Given the description of an element on the screen output the (x, y) to click on. 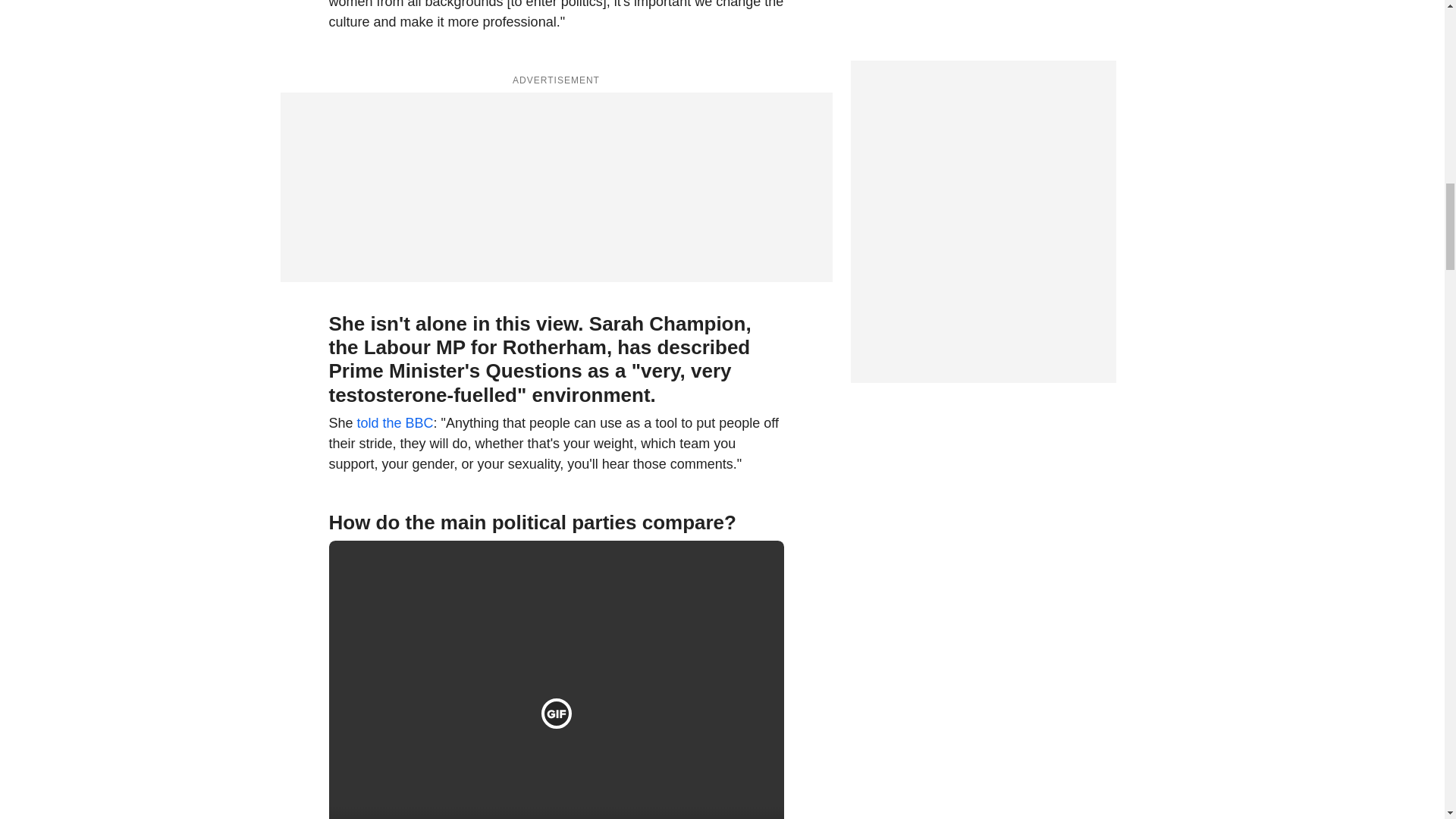
Tap to play GIF (556, 713)
